Given the description of an element on the screen output the (x, y) to click on. 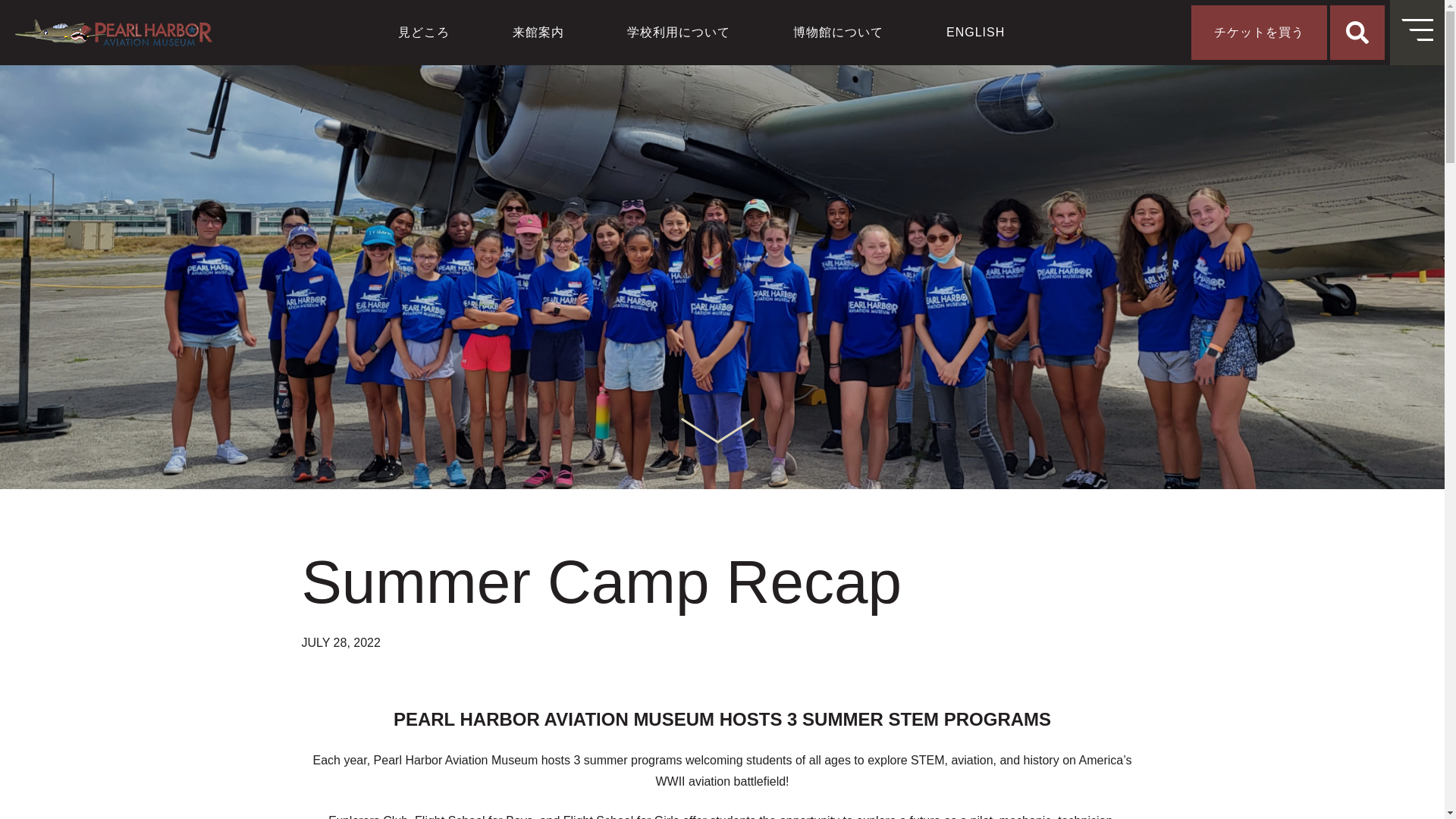
ENGLISH (975, 31)
